Given the description of an element on the screen output the (x, y) to click on. 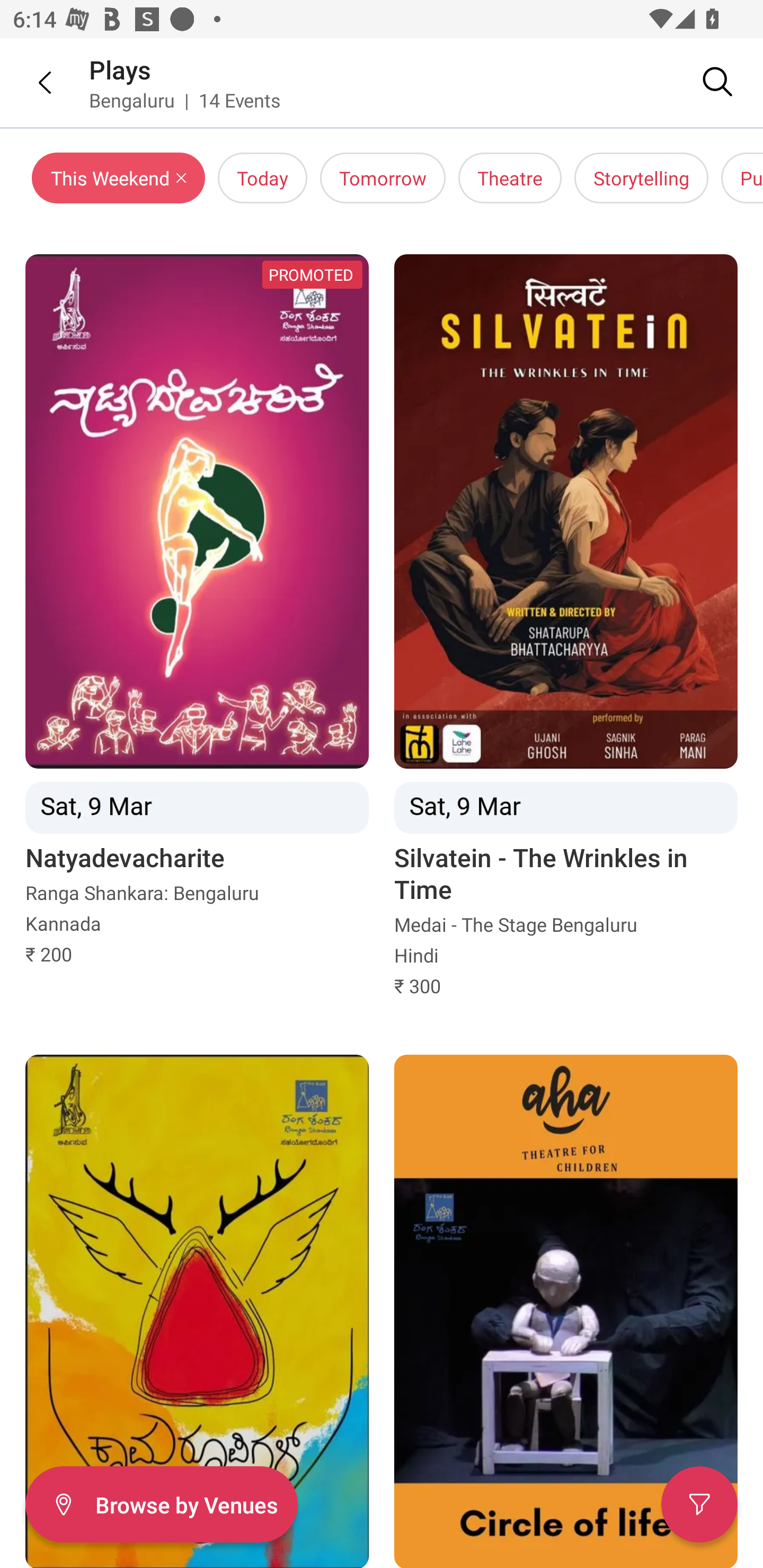
Back (31, 82)
Plays (120, 68)
Bengaluru  |  14 Events (185, 99)
This Weekend Close (118, 177)
Today (262, 177)
Tomorrow (382, 177)
Theatre (509, 177)
Storytelling (641, 177)
Filter Browse by Venues (161, 1504)
Filter (699, 1504)
